Given the description of an element on the screen output the (x, y) to click on. 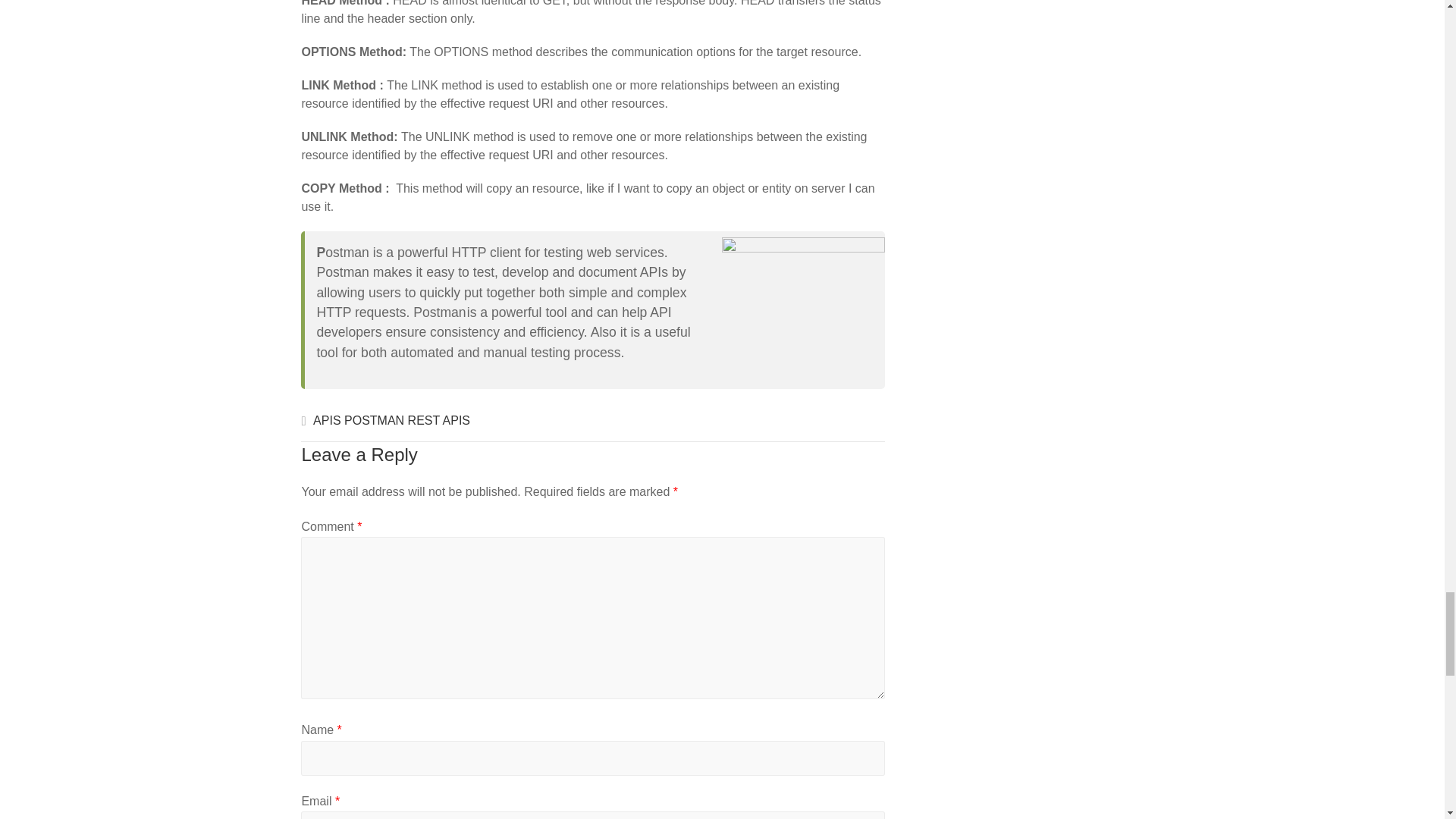
POSTMAN (373, 424)
APIS (326, 424)
REST APIS (438, 424)
